Given the description of an element on the screen output the (x, y) to click on. 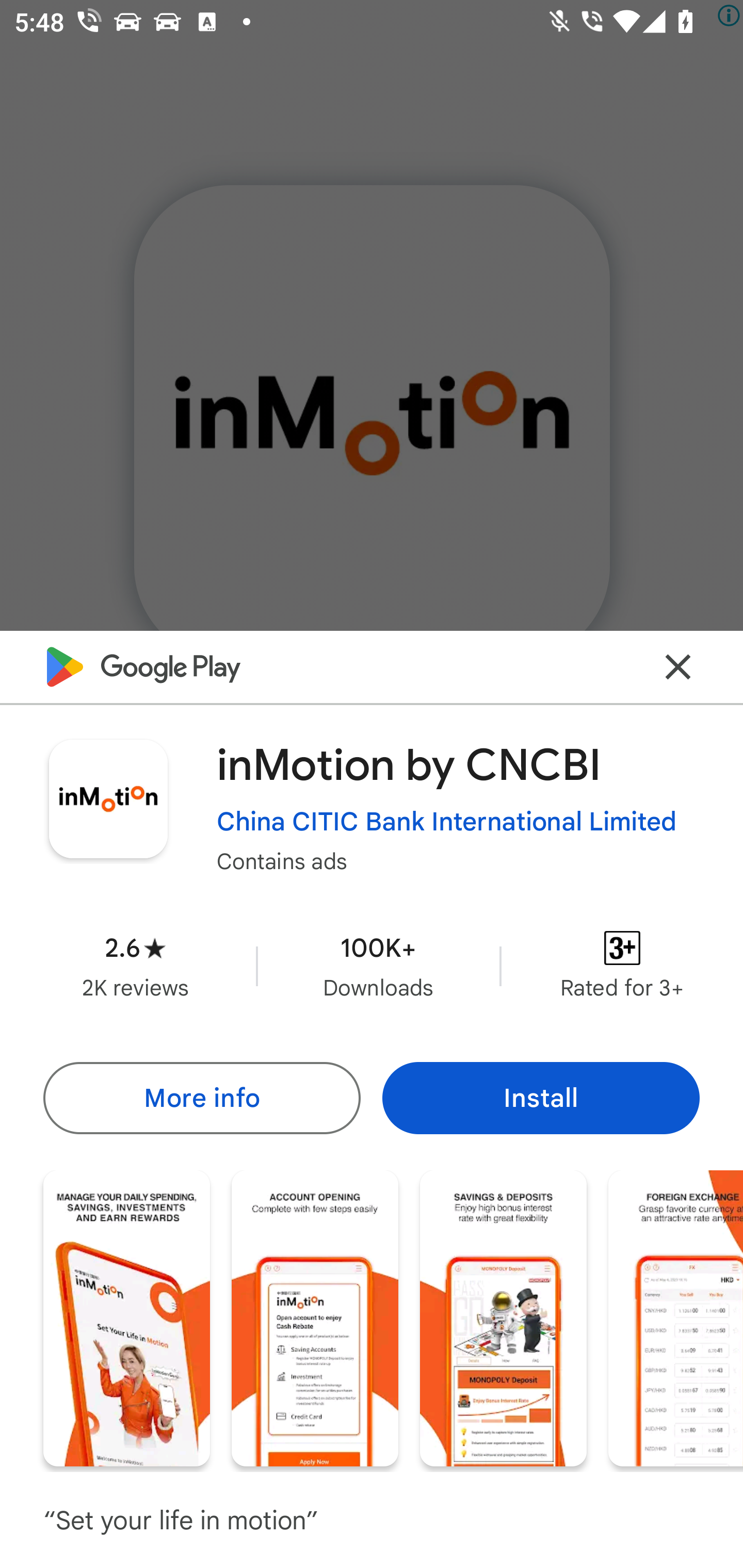
Close (677, 666)
Image of app or game icon for inMotion by CNCBI (108, 798)
China CITIC Bank International Limited (446, 822)
More info (201, 1097)
Install (540, 1097)
Screenshot "1" of "7" (126, 1317)
Screenshot "2" of "7" (314, 1317)
Screenshot "3" of "7" (502, 1317)
Screenshot "4" of "7" (675, 1317)
